Given the description of an element on the screen output the (x, y) to click on. 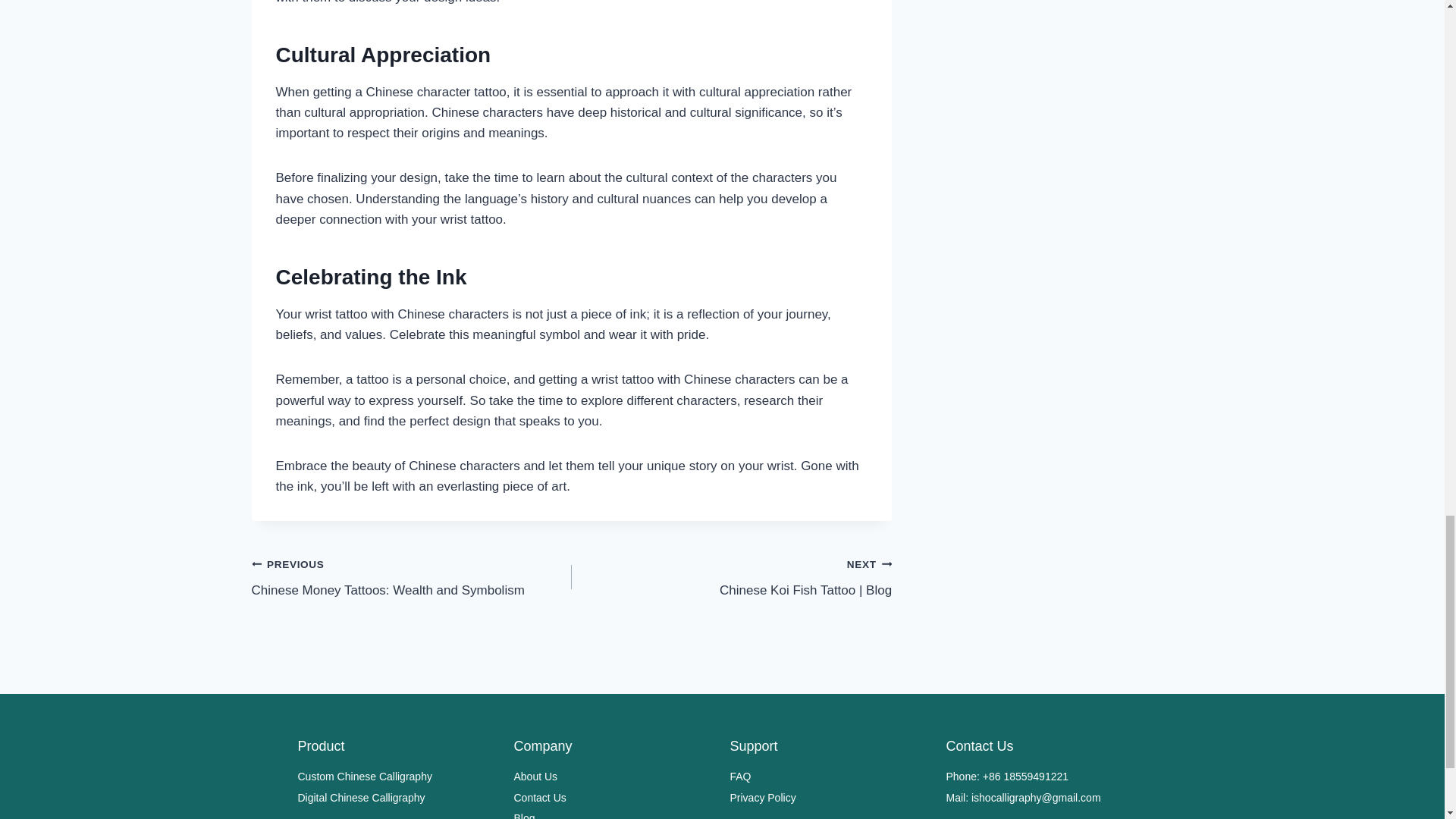
Contact Us (613, 797)
Blog (613, 814)
Custom Chinese Calligraphy (397, 776)
About Us (411, 577)
Digital Chinese Calligraphy (613, 776)
